Given the description of an element on the screen output the (x, y) to click on. 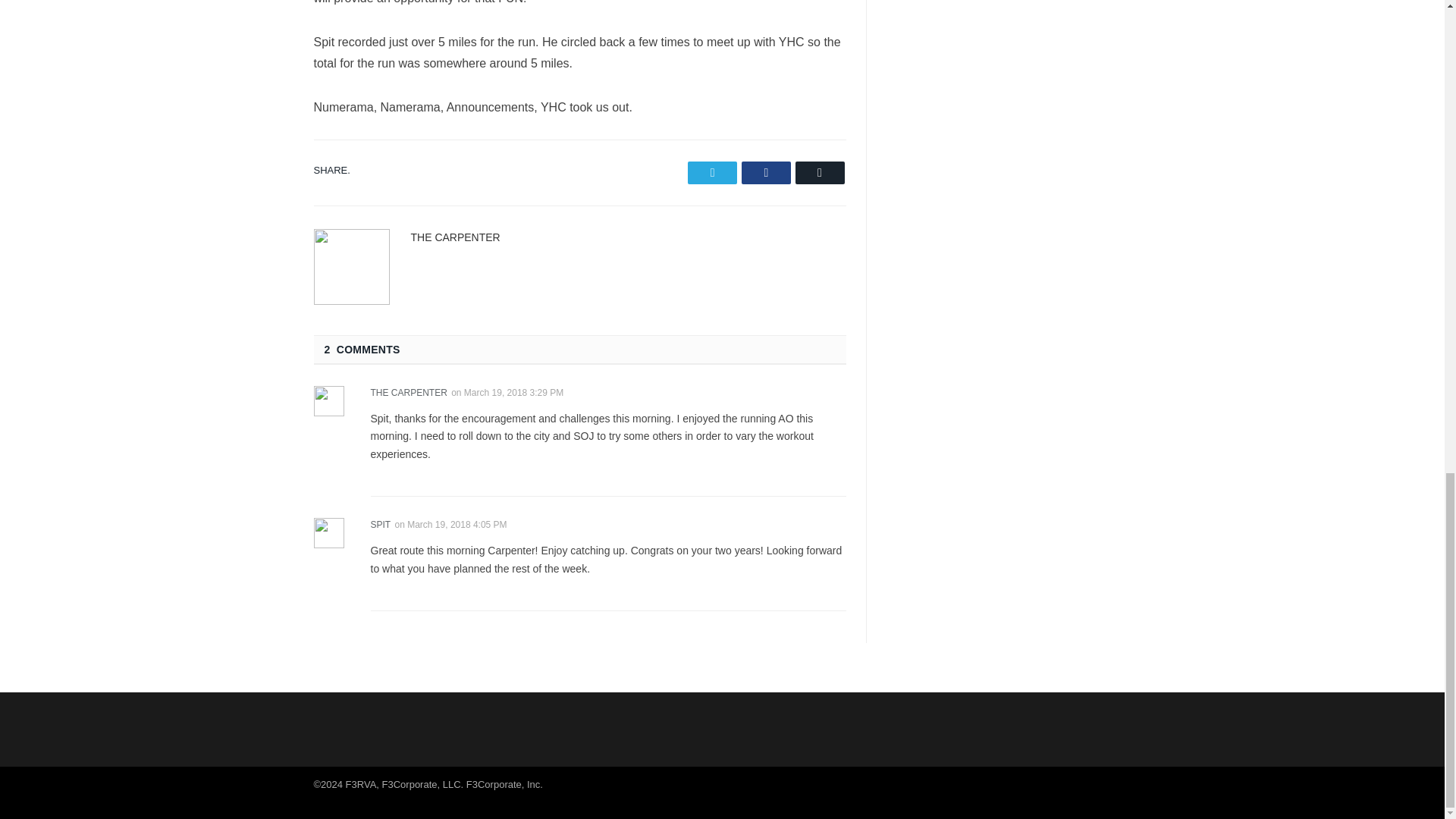
Posts by The Carpenter (455, 236)
Facebook (765, 171)
March 19, 2018 4:05 PM (456, 524)
March 19, 2018 at 4:05 PM (456, 524)
Twitter (711, 171)
March 19, 2018 3:29 PM (513, 391)
THE CARPENTER (455, 236)
March 19, 2018 at 3:29 PM (513, 391)
Email (819, 171)
